Given the description of an element on the screen output the (x, y) to click on. 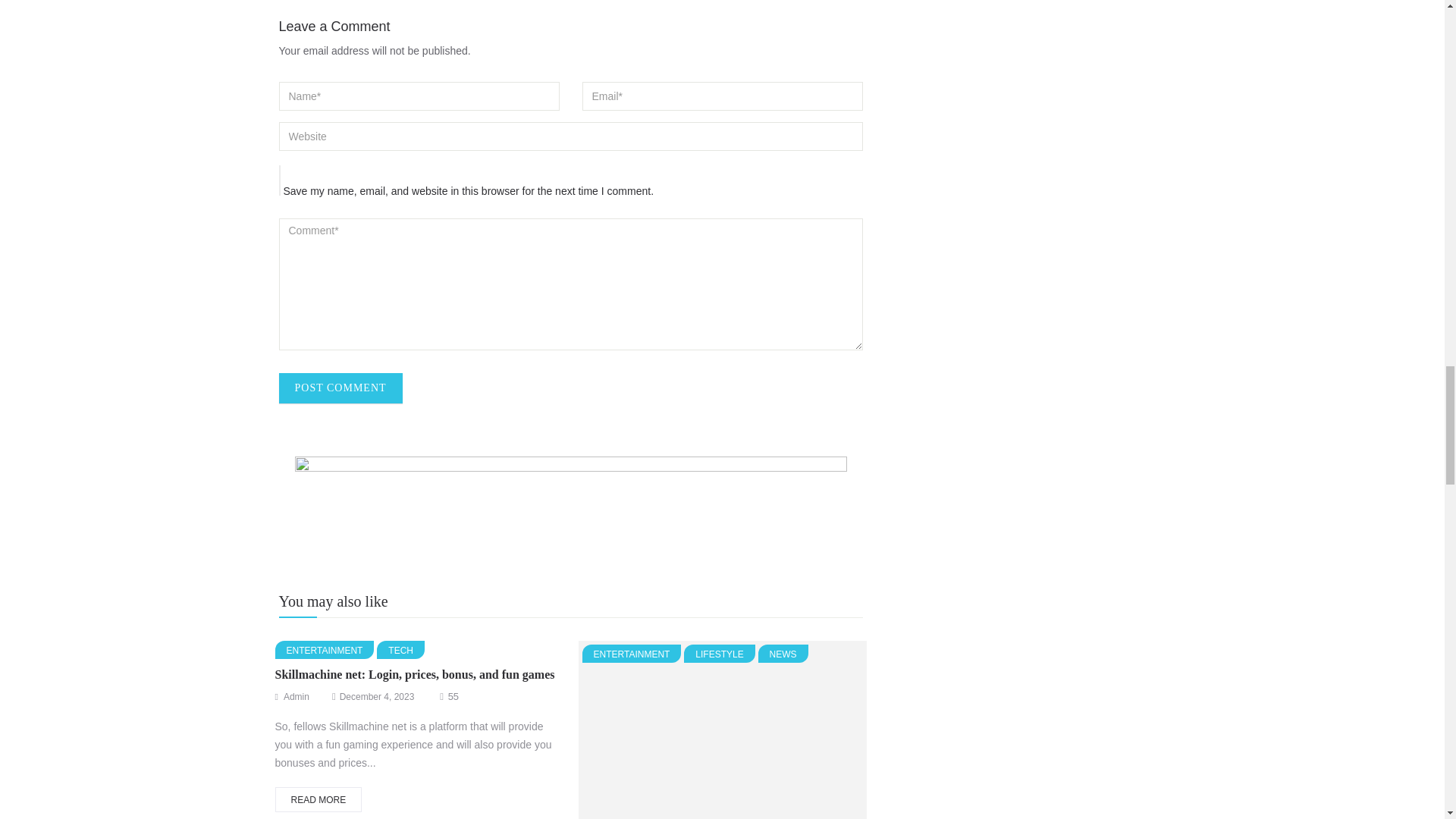
Post Comment (341, 388)
